Given the description of an element on the screen output the (x, y) to click on. 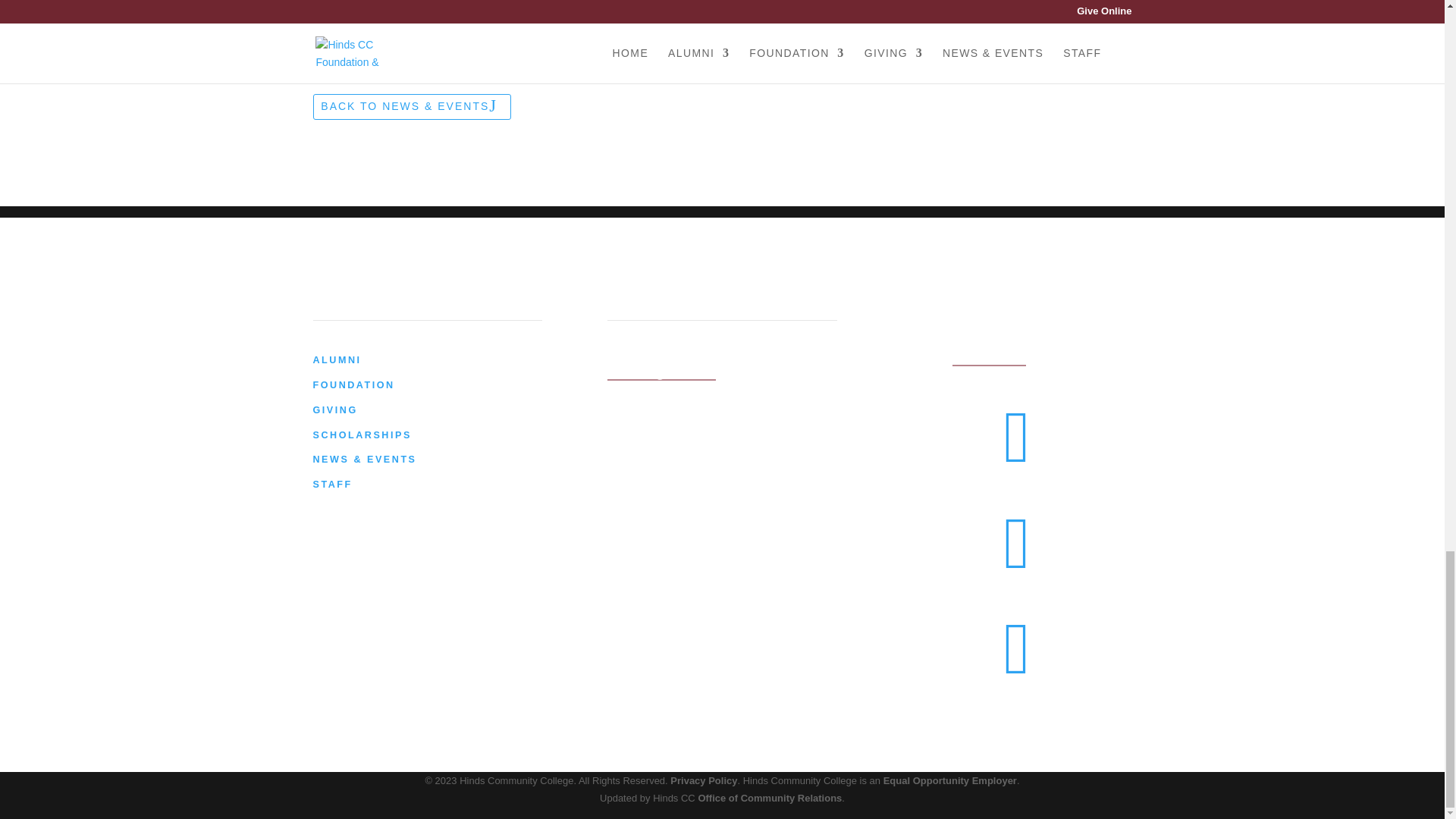
STAFF (332, 484)
www.hindscc.edu (989, 360)
Follow on Facebook (1017, 458)
Scholarships (361, 434)
SCHOLARSHIPS (361, 434)
Equal Opportunity Employer (949, 780)
Privacy Policy (702, 780)
FOUNDATION (353, 385)
GIVING (334, 409)
ALUMNI (337, 359)
